Given the description of an element on the screen output the (x, y) to click on. 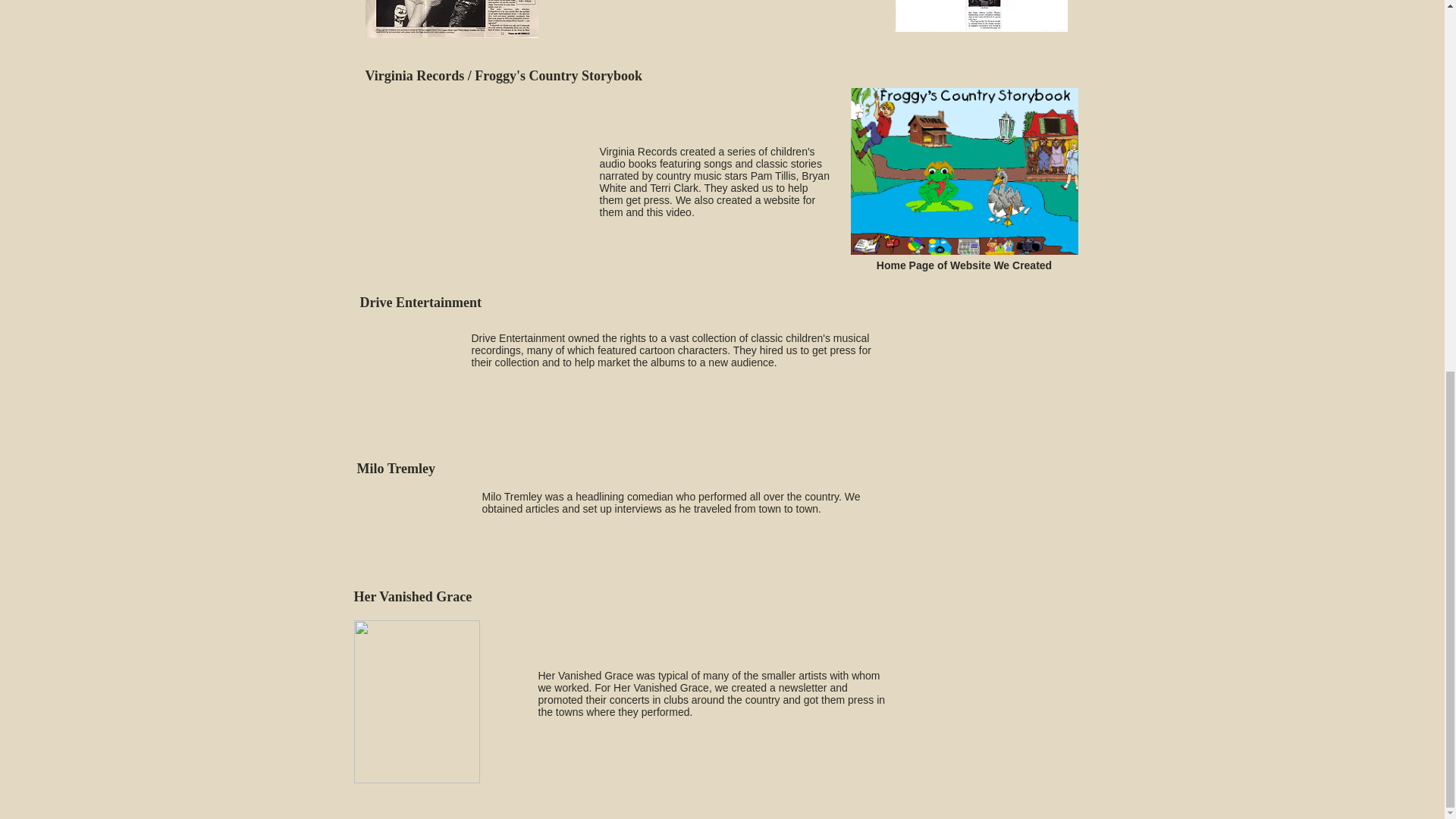
pr2.jpg (981, 15)
External YouTube (475, 181)
